Given the description of an element on the screen output the (x, y) to click on. 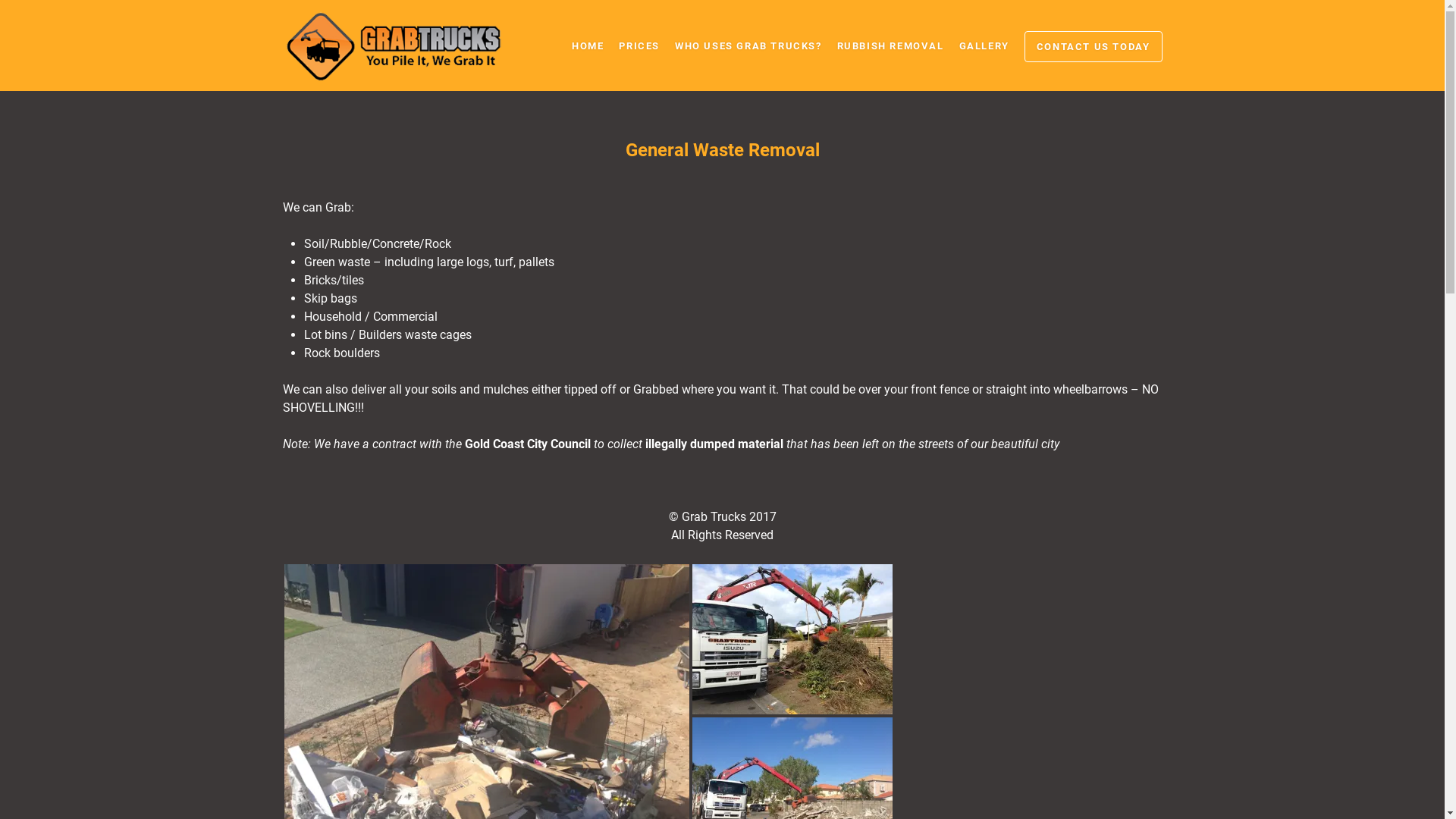
grab-tucks-waste-removal Element type: hover (791, 639)
PRICES Element type: text (638, 46)
RUBBISH REMOVAL Element type: text (890, 46)
SKIP TO CONTENT Element type: text (621, 53)
WHO USES GRAB TRUCKS? Element type: text (748, 46)
GALLERY Element type: text (984, 46)
HOME Element type: text (587, 46)
CONTACT US TODAY Element type: text (1093, 46)
